Given the description of an element on the screen output the (x, y) to click on. 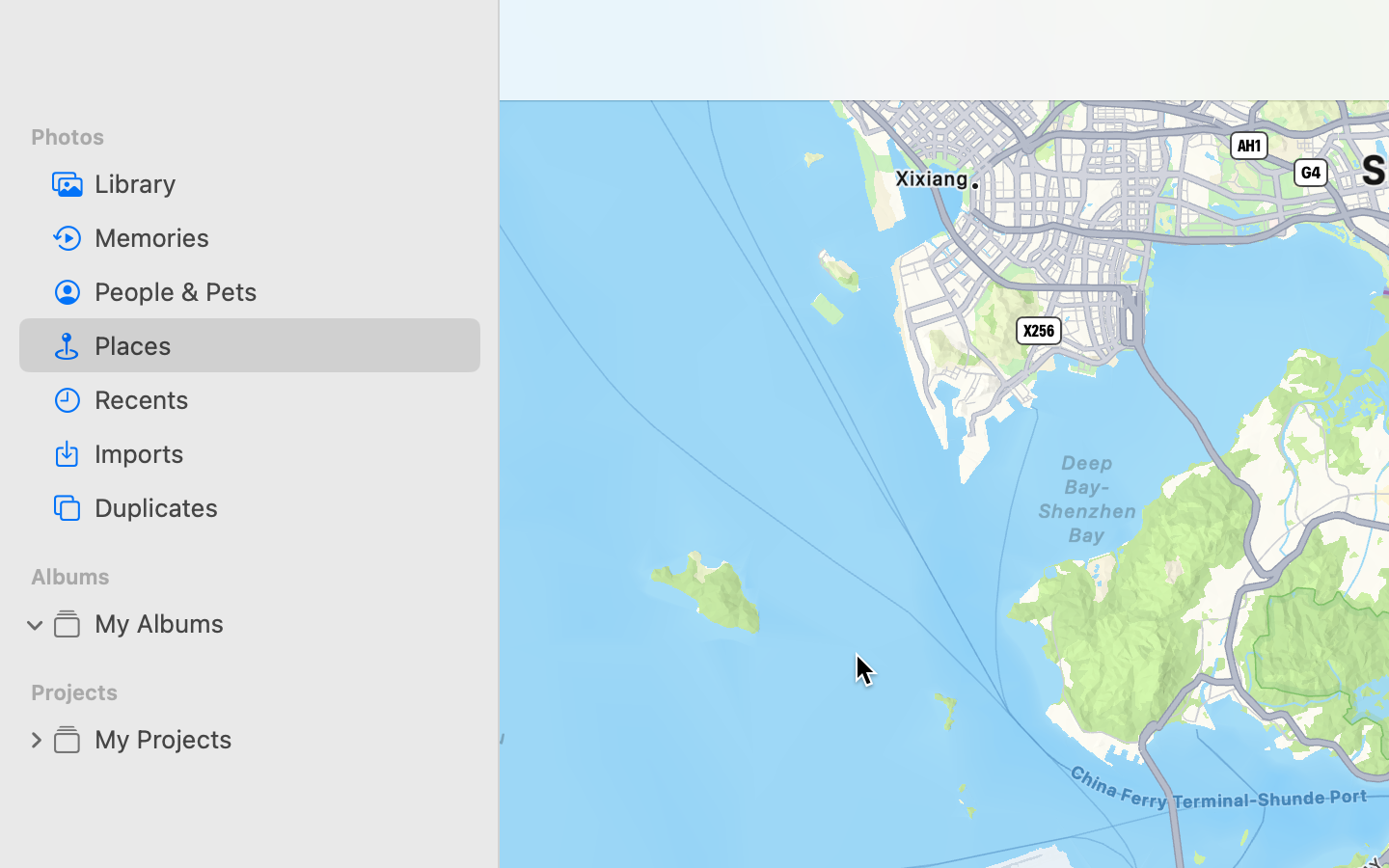
People & Pets Element type: AXStaticText (279, 290)
My Albums Element type: AXStaticText (279, 622)
Recents Element type: AXStaticText (279, 398)
0 Element type: AXDisclosureTriangle (35, 738)
